Given the description of an element on the screen output the (x, y) to click on. 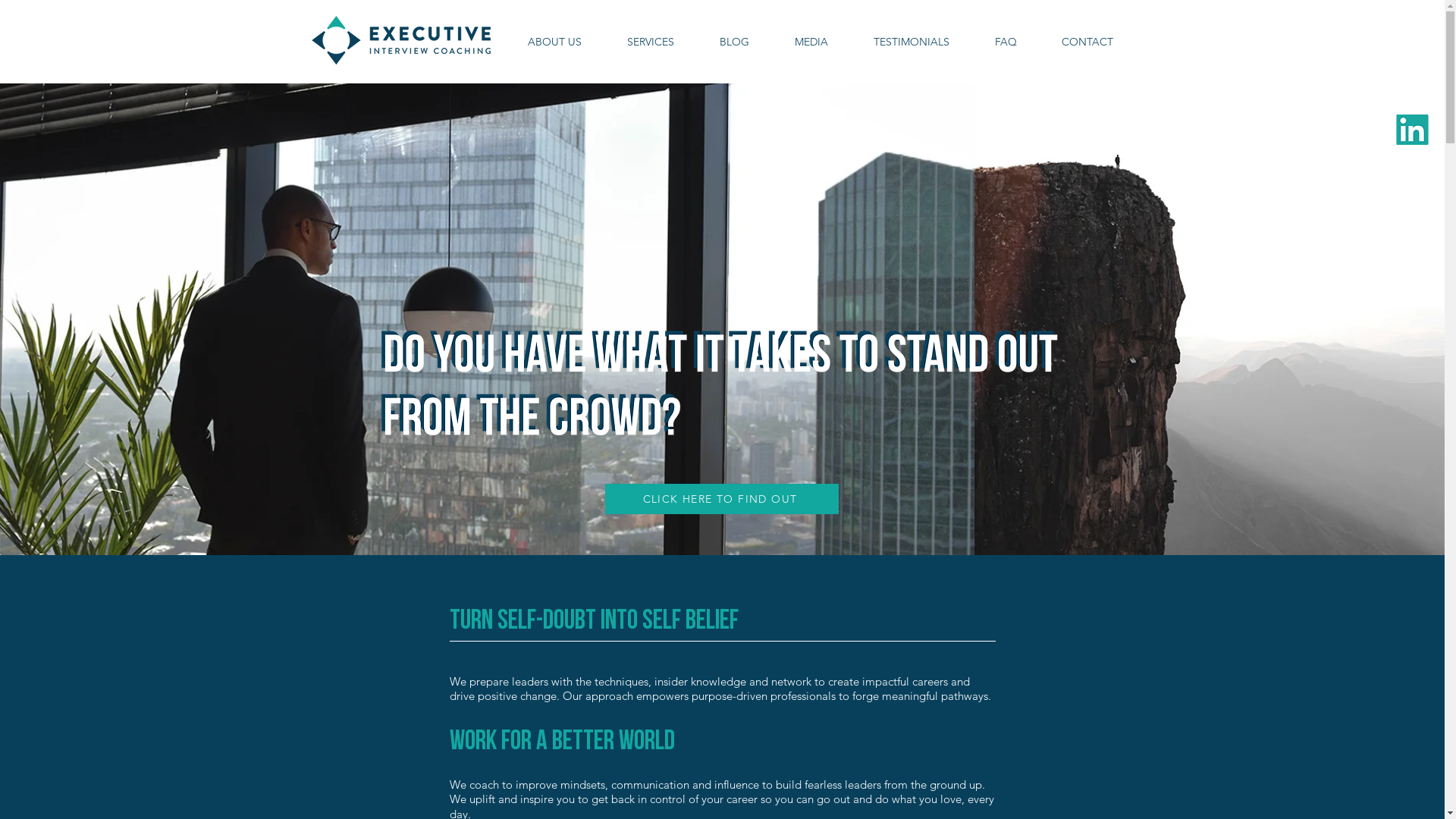
FAQ Element type: text (1005, 41)
BLOG Element type: text (733, 41)
MEDIA Element type: text (810, 41)
CONTACT Element type: text (1086, 41)
ABOUT US Element type: text (554, 41)
CLICK HERE TO FIND OUT Element type: text (721, 498)
TESTIMONIALS Element type: text (911, 41)
linked in-01.png Element type: hover (1412, 129)
